Given the description of an element on the screen output the (x, y) to click on. 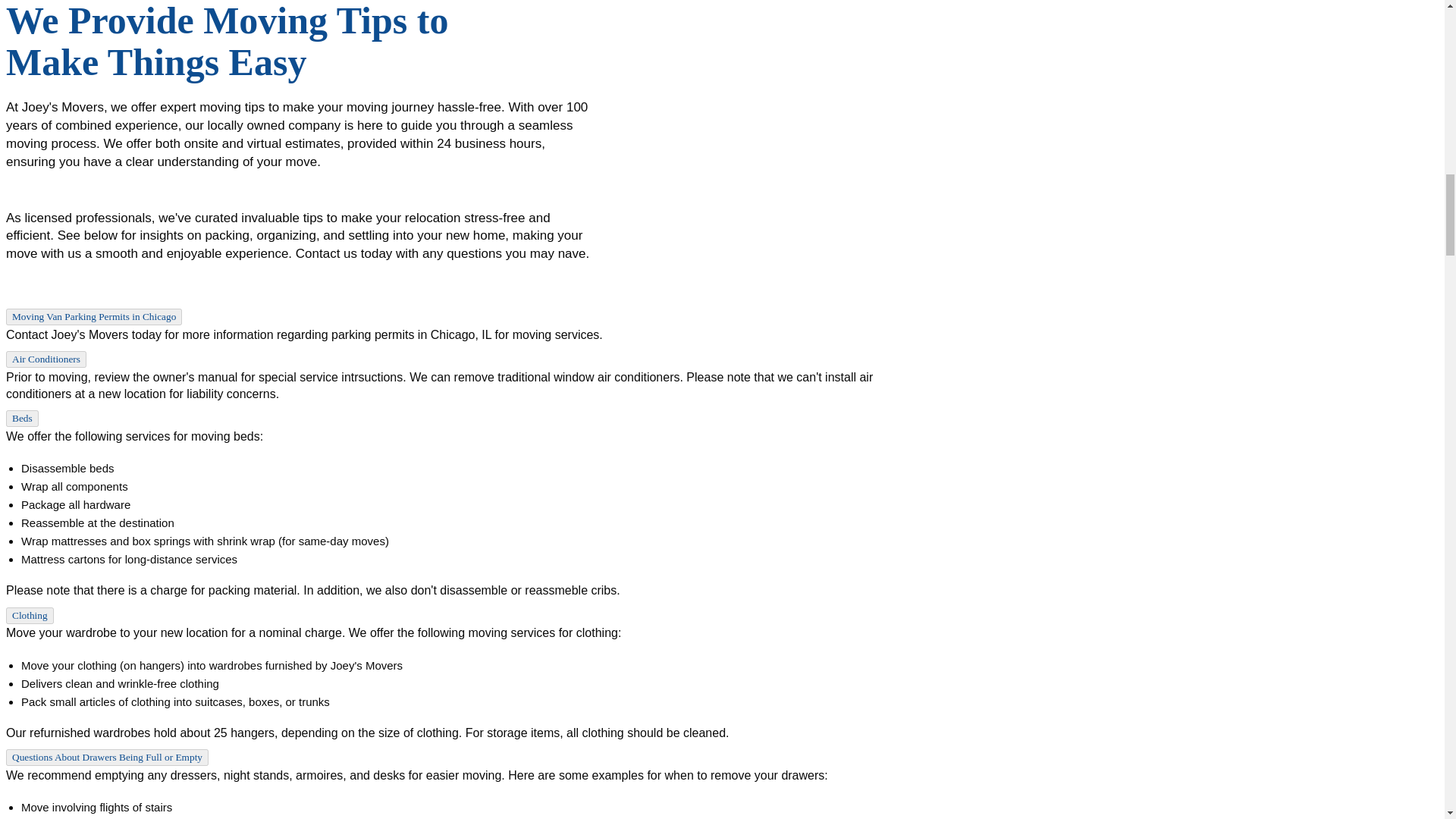
Questions About Drawers Being Full or Empty (106, 757)
Moving Van Parking Permits in Chicago (93, 316)
Clothing (29, 615)
Beds (22, 418)
Air Conditioners (45, 359)
